Given the description of an element on the screen output the (x, y) to click on. 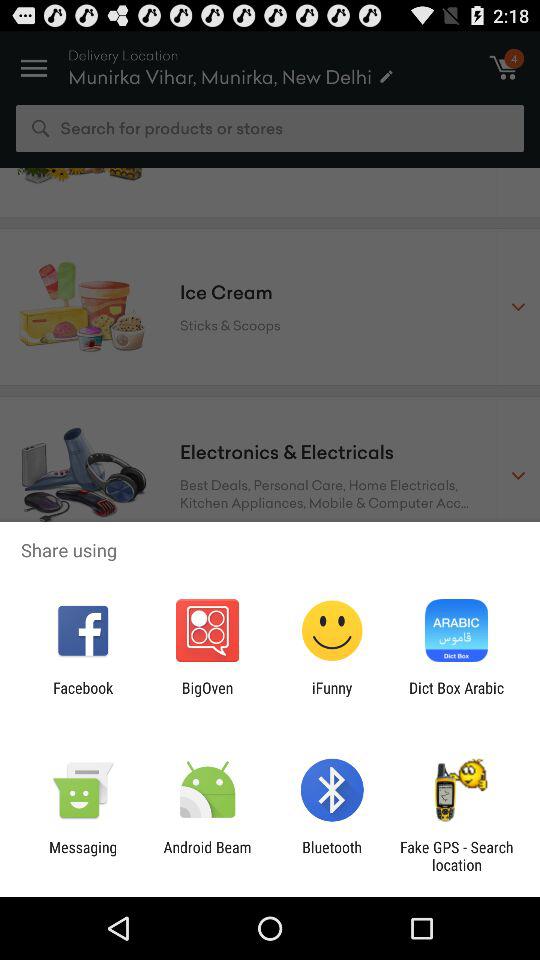
press the ifunny item (332, 696)
